Given the description of an element on the screen output the (x, y) to click on. 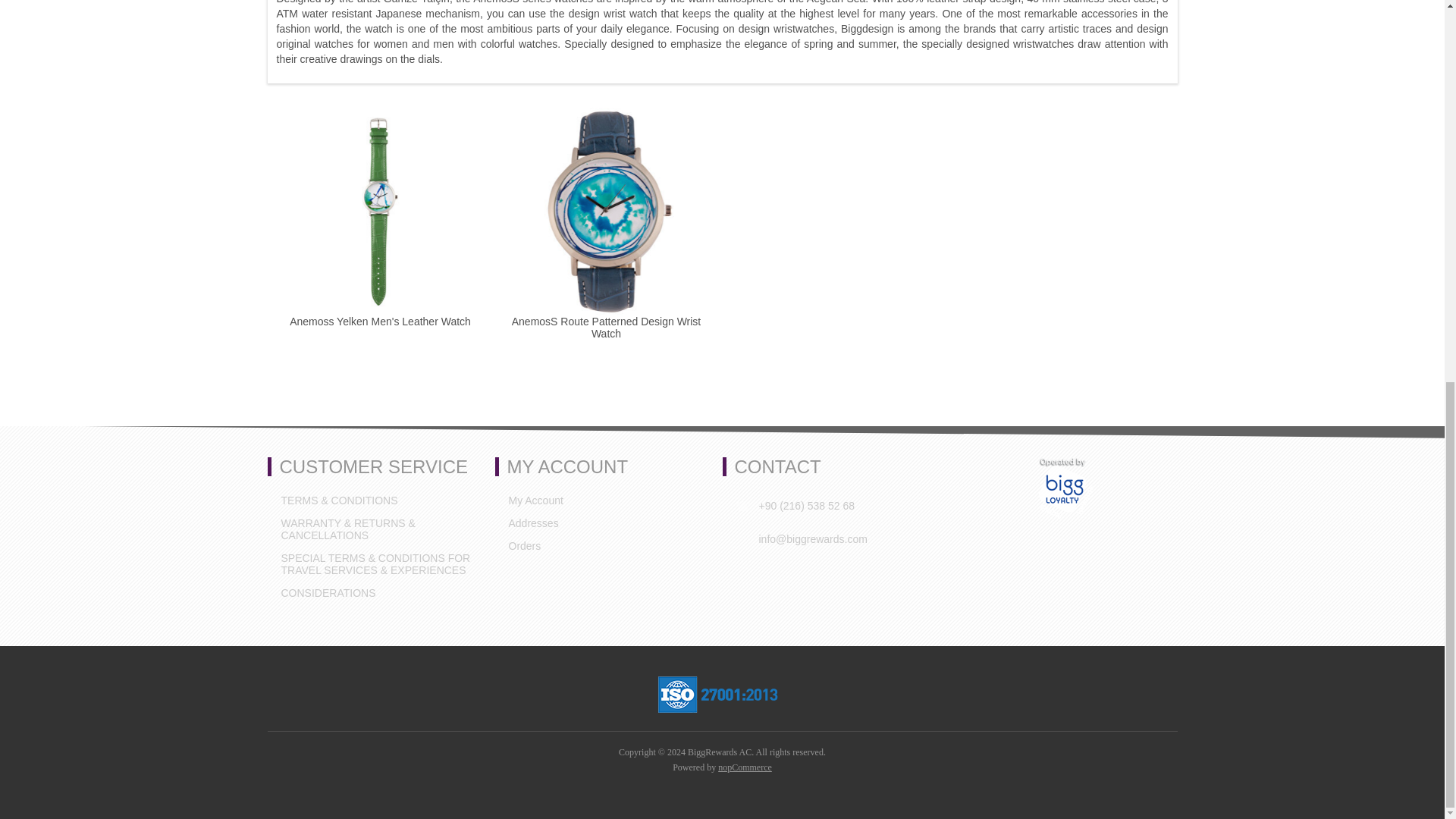
CONSIDERATIONS (328, 592)
Anemoss Yelken Men's Leather Watch (379, 321)
Orders (524, 545)
media.product.imagelinktitleformat.details (660, 5)
Addresses (532, 522)
My Account (535, 499)
AnemosS Route Patterned Design Wrist Watch (606, 327)
media.product.imagelinktitleformat.details (660, 52)
